Given the description of an element on the screen output the (x, y) to click on. 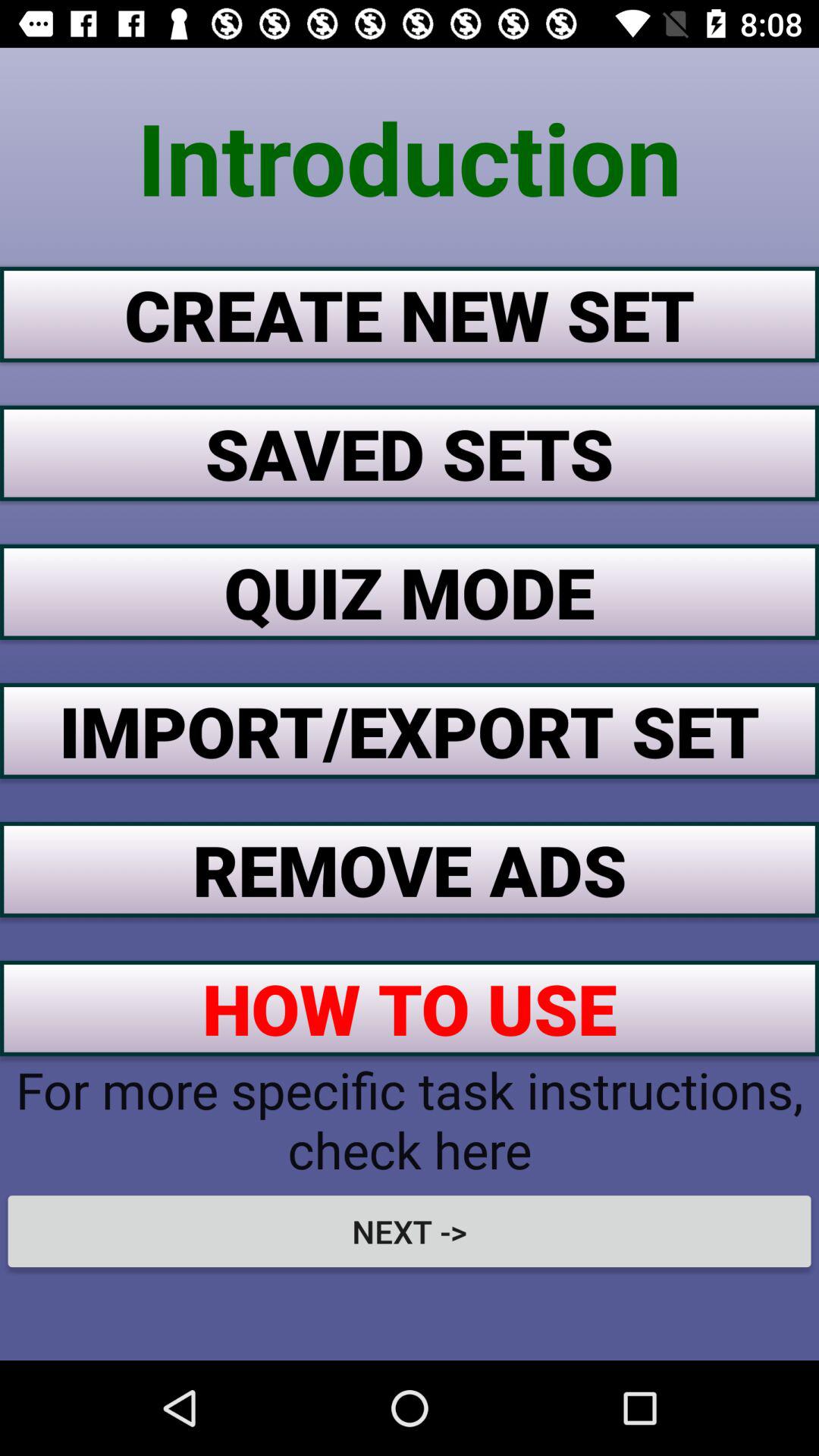
swipe to the remove ads button (409, 869)
